Given the description of an element on the screen output the (x, y) to click on. 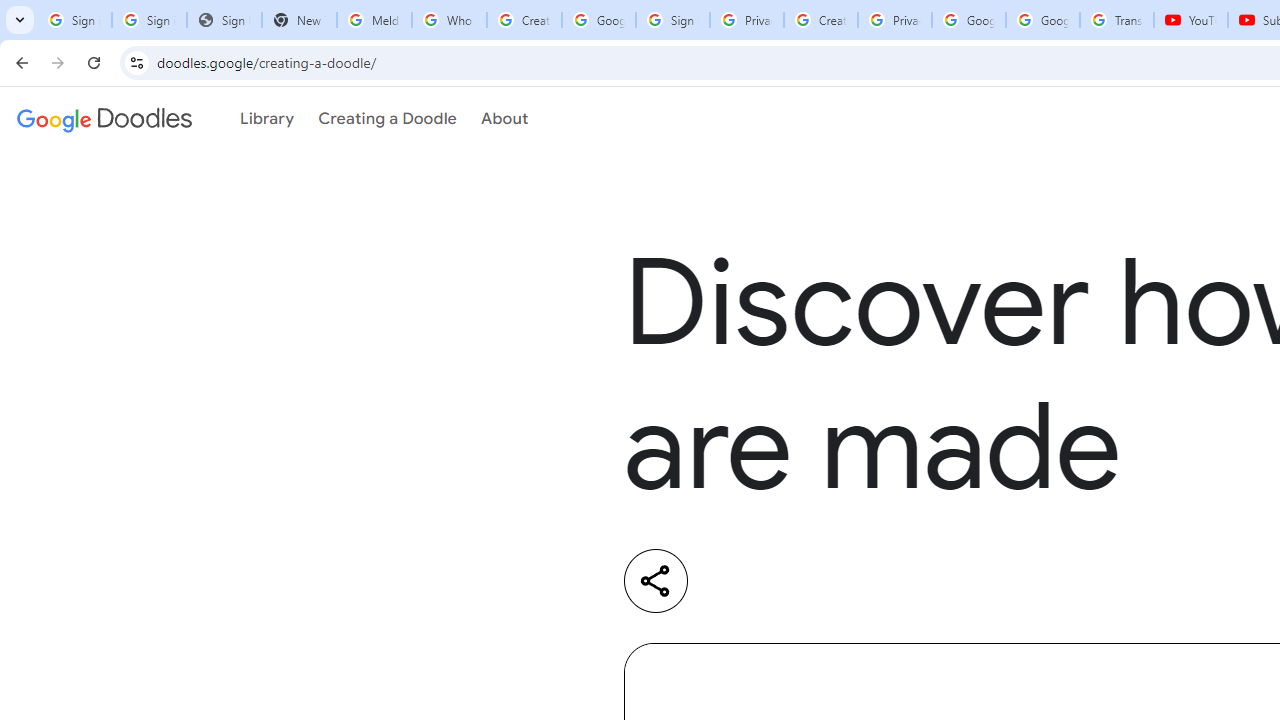
Create your Google Account (523, 20)
About (504, 119)
Who is my administrator? - Google Account Help (449, 20)
YouTube (1190, 20)
Share (655, 580)
Google Account (1043, 20)
Sign in - Google Accounts (74, 20)
Share on facebook (900, 581)
